Given the description of an element on the screen output the (x, y) to click on. 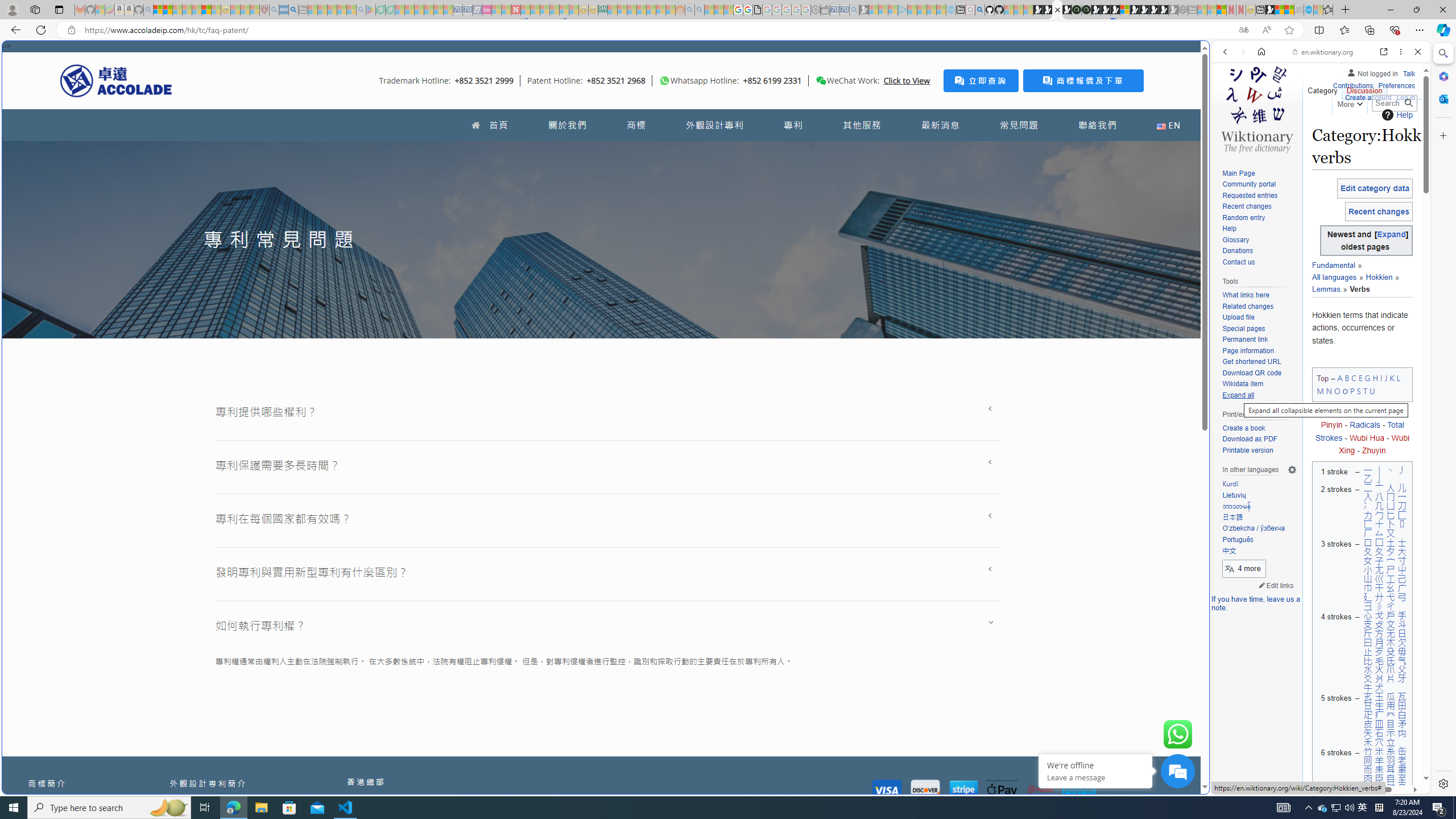
If you have time, leave us a note. (1255, 603)
Verbs (1354, 288)
Community portal (1248, 184)
Accolade IP HK Logo (116, 80)
Top (1322, 378)
